Given the description of an element on the screen output the (x, y) to click on. 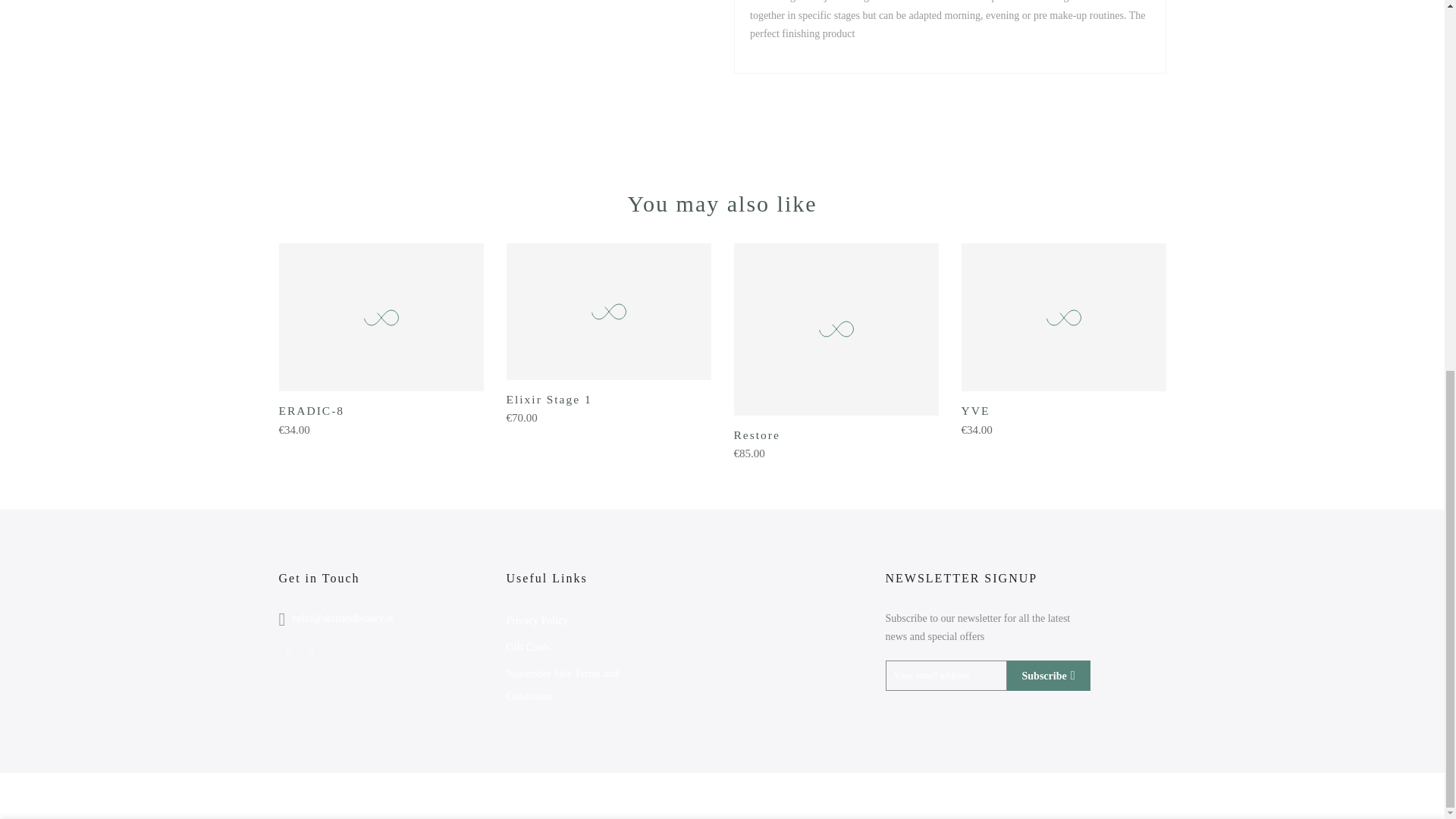
Elixir Stage 1 (549, 399)
1 (1001, 189)
ERADIC-8 (312, 410)
